Given the description of an element on the screen output the (x, y) to click on. 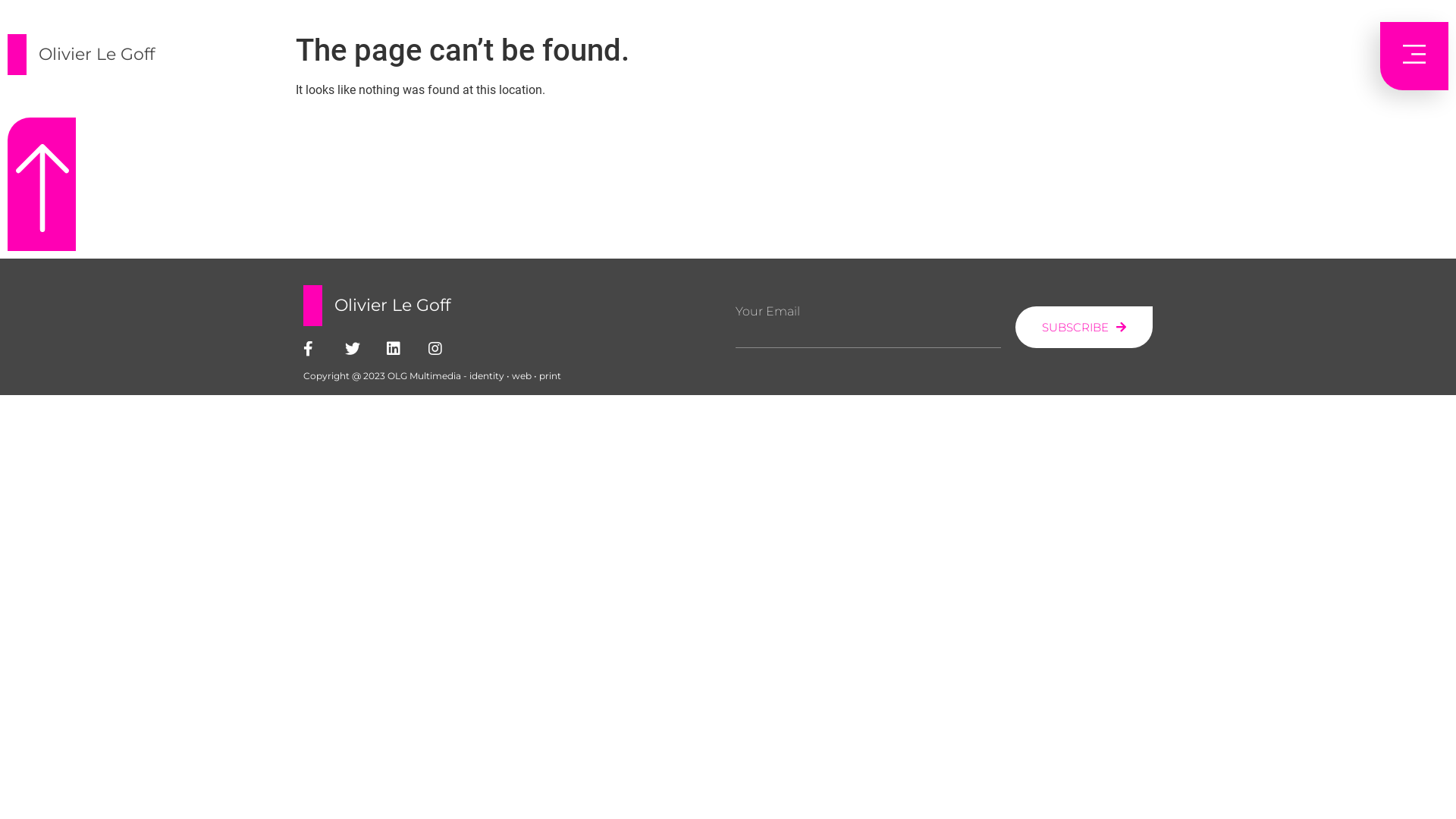
Olivier Le Goff Element type: text (96, 53)
Olivier Le Goff Element type: text (392, 304)
Menu-new Element type: text (1414, 55)
SUBSCRIBE Element type: text (1083, 327)
